Given the description of an element on the screen output the (x, y) to click on. 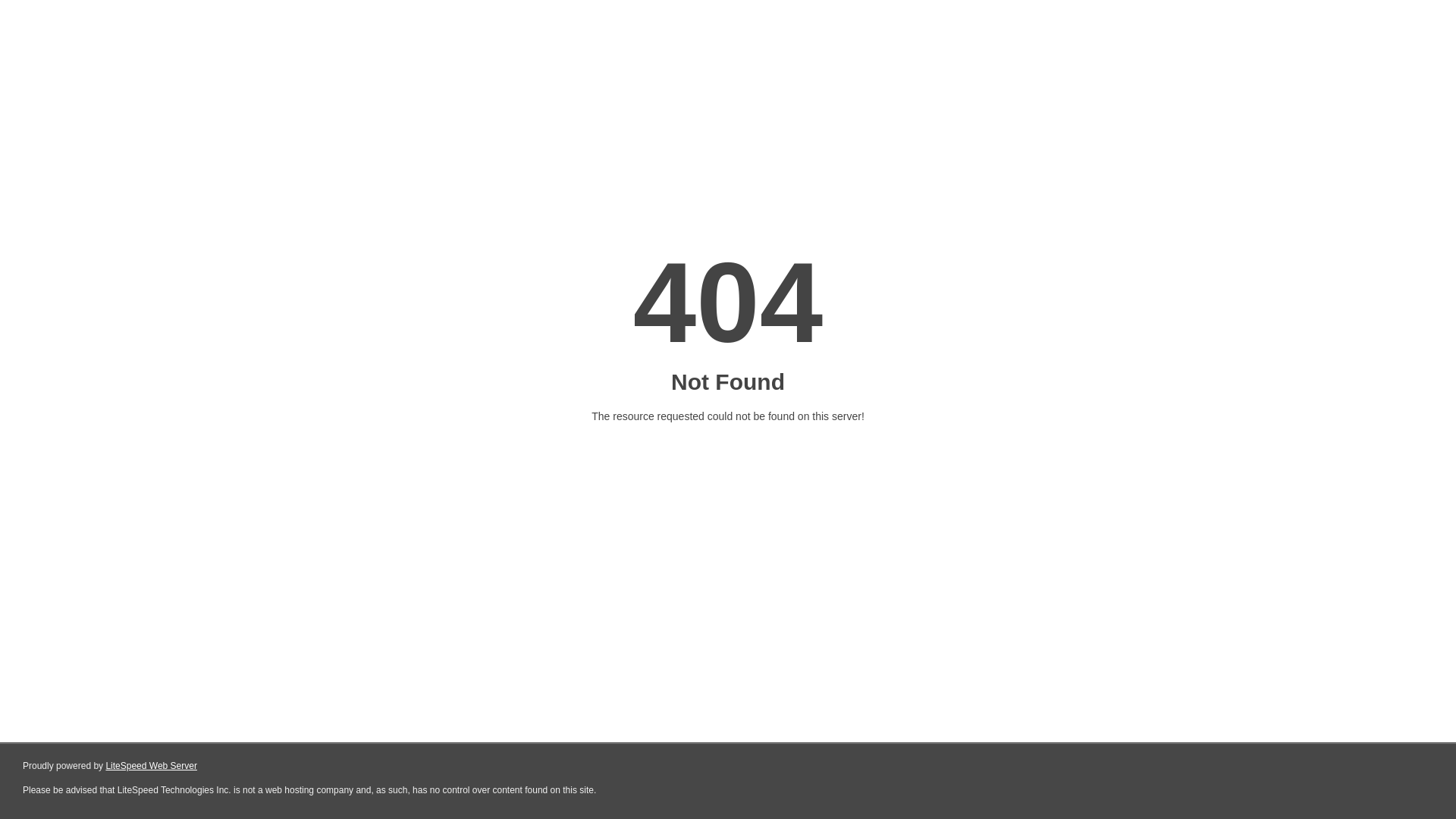
LiteSpeed Web Server Element type: text (151, 765)
